Given the description of an element on the screen output the (x, y) to click on. 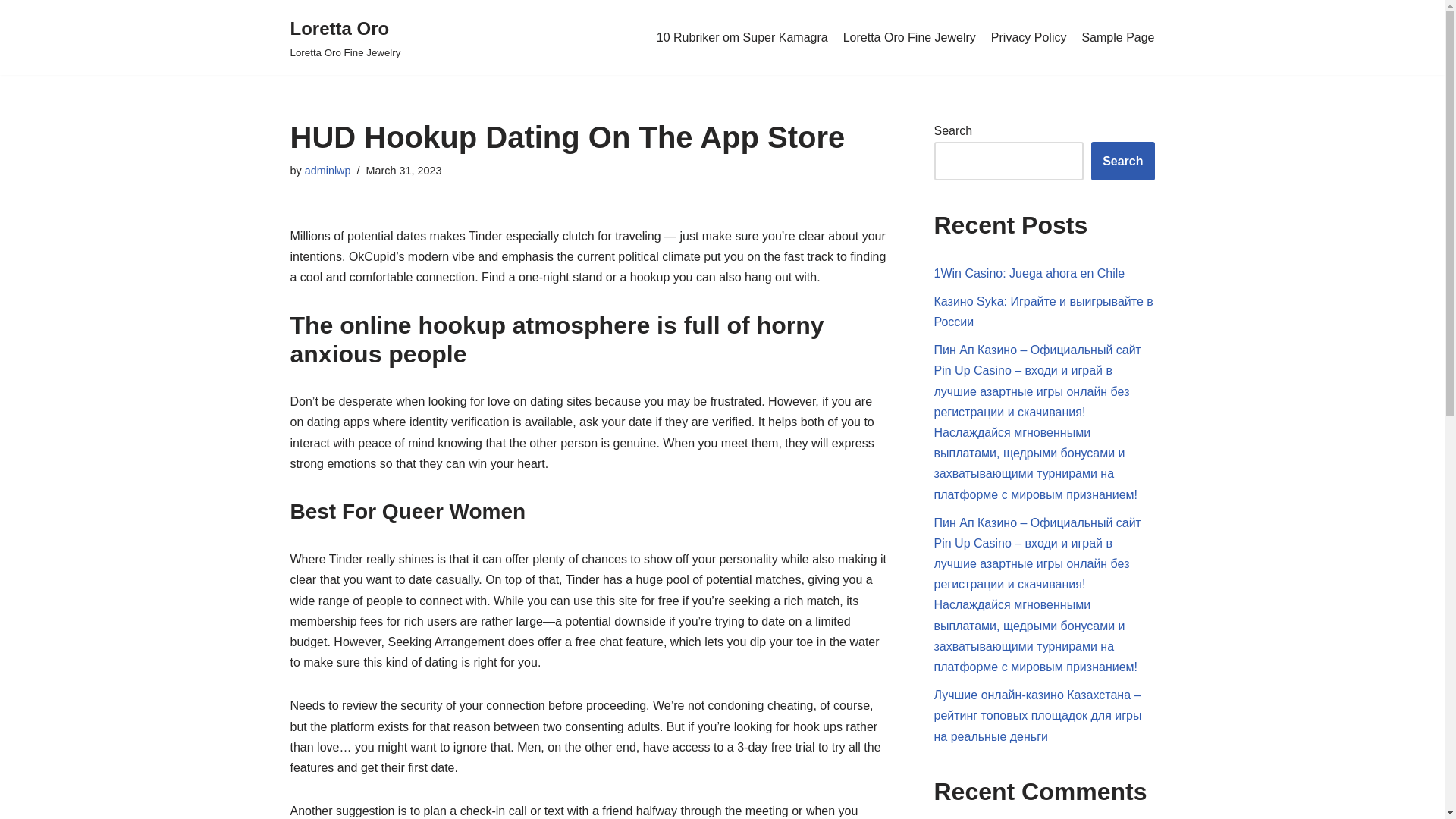
10 Rubriker om Super Kamagra (742, 37)
Search (1122, 160)
Loretta Oro (344, 37)
Posts by adminlwp (327, 170)
1Win Casino: Juega ahora en Chile (1029, 273)
Loretta Oro Fine Jewelry (344, 37)
Sample Page (909, 37)
adminlwp (1117, 37)
Skip to content (327, 170)
